Given the description of an element on the screen output the (x, y) to click on. 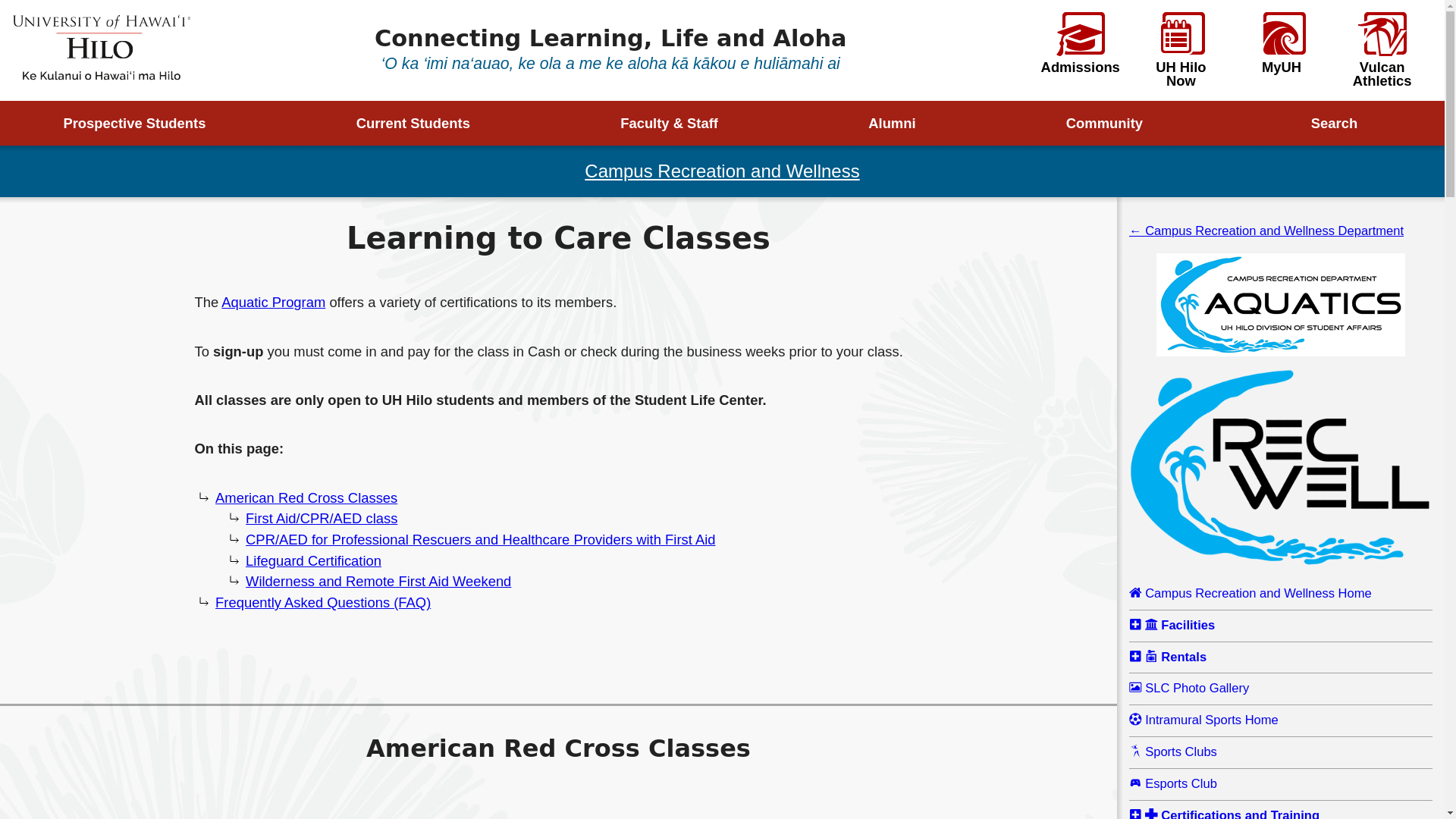
Vulcan Athletics (1382, 50)
American Red Cross Classes (306, 497)
Rentals (1280, 657)
Campus Recreation and Wellness Home (1280, 593)
Admissions (1080, 43)
Wilderness and Remote First Aid Weekend (378, 580)
Facilities (1280, 625)
MyUH (1281, 43)
Current Students (424, 123)
UH Hilo Now (1180, 50)
Prospective Students (146, 123)
Lifeguard Certification (313, 560)
Aquatic Program (272, 302)
Alumni (904, 123)
